Given the description of an element on the screen output the (x, y) to click on. 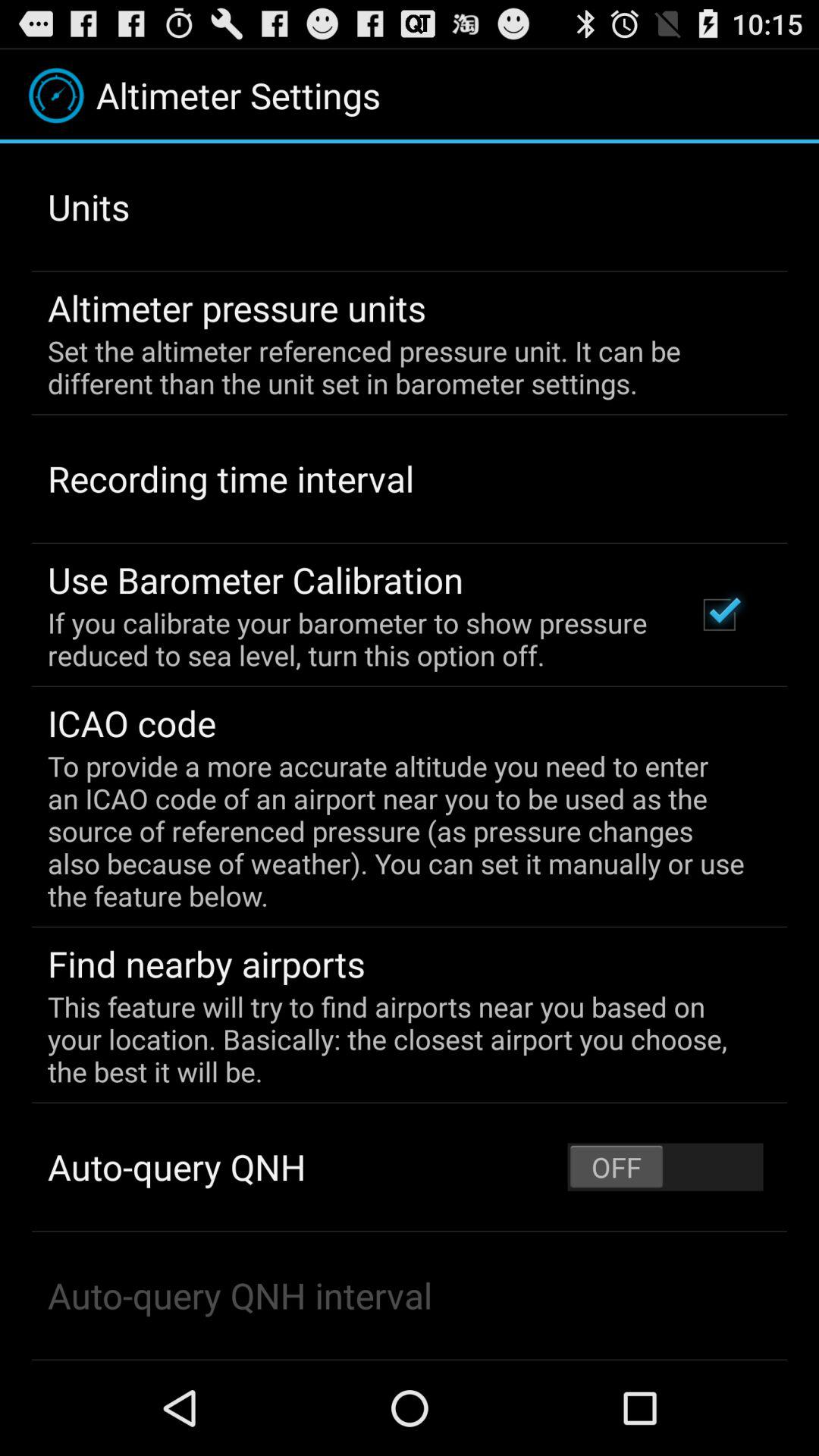
open the item above to provide a item (719, 614)
